Given the description of an element on the screen output the (x, y) to click on. 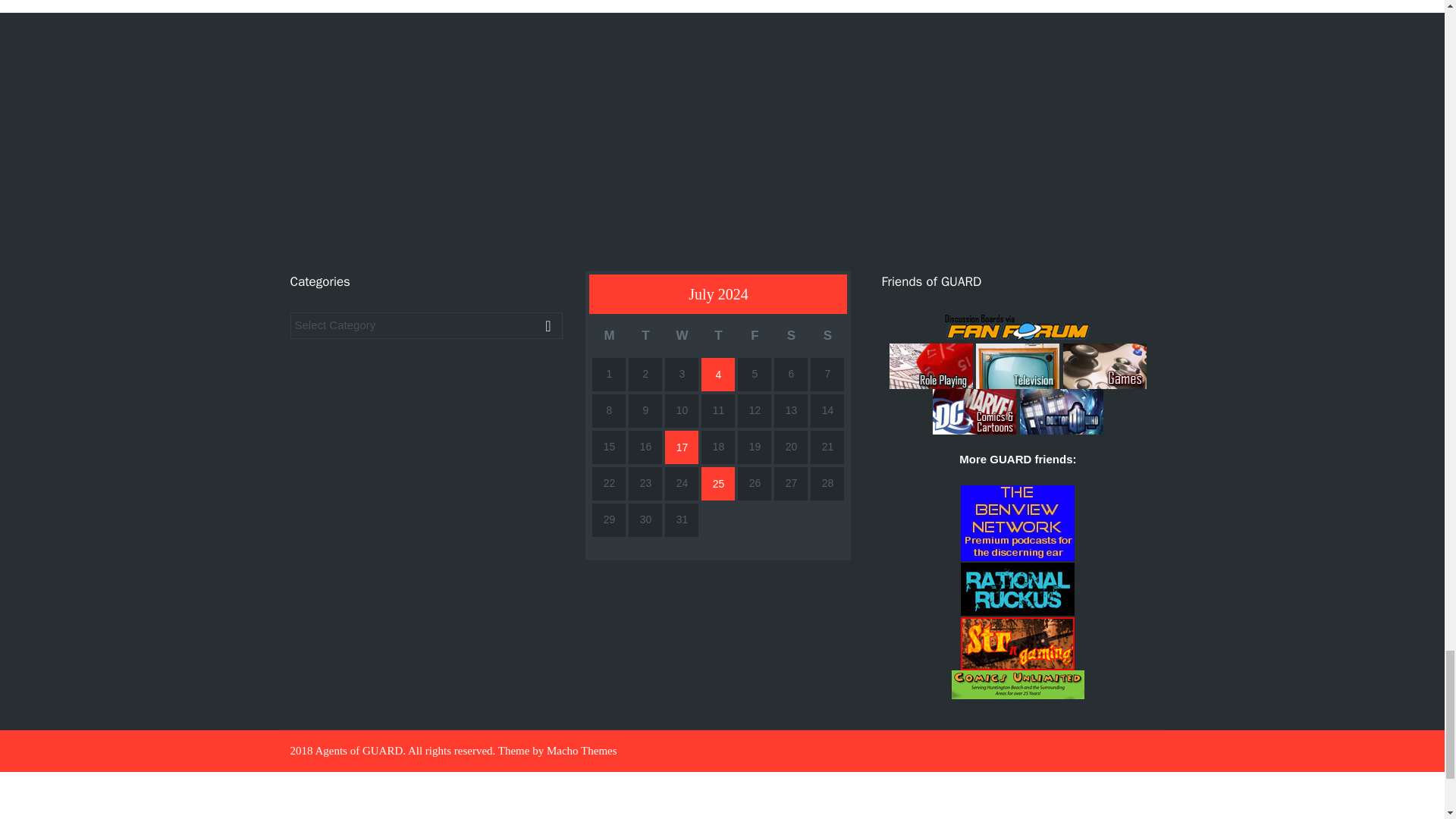
Professional WordPress Themes (582, 750)
